Given the description of an element on the screen output the (x, y) to click on. 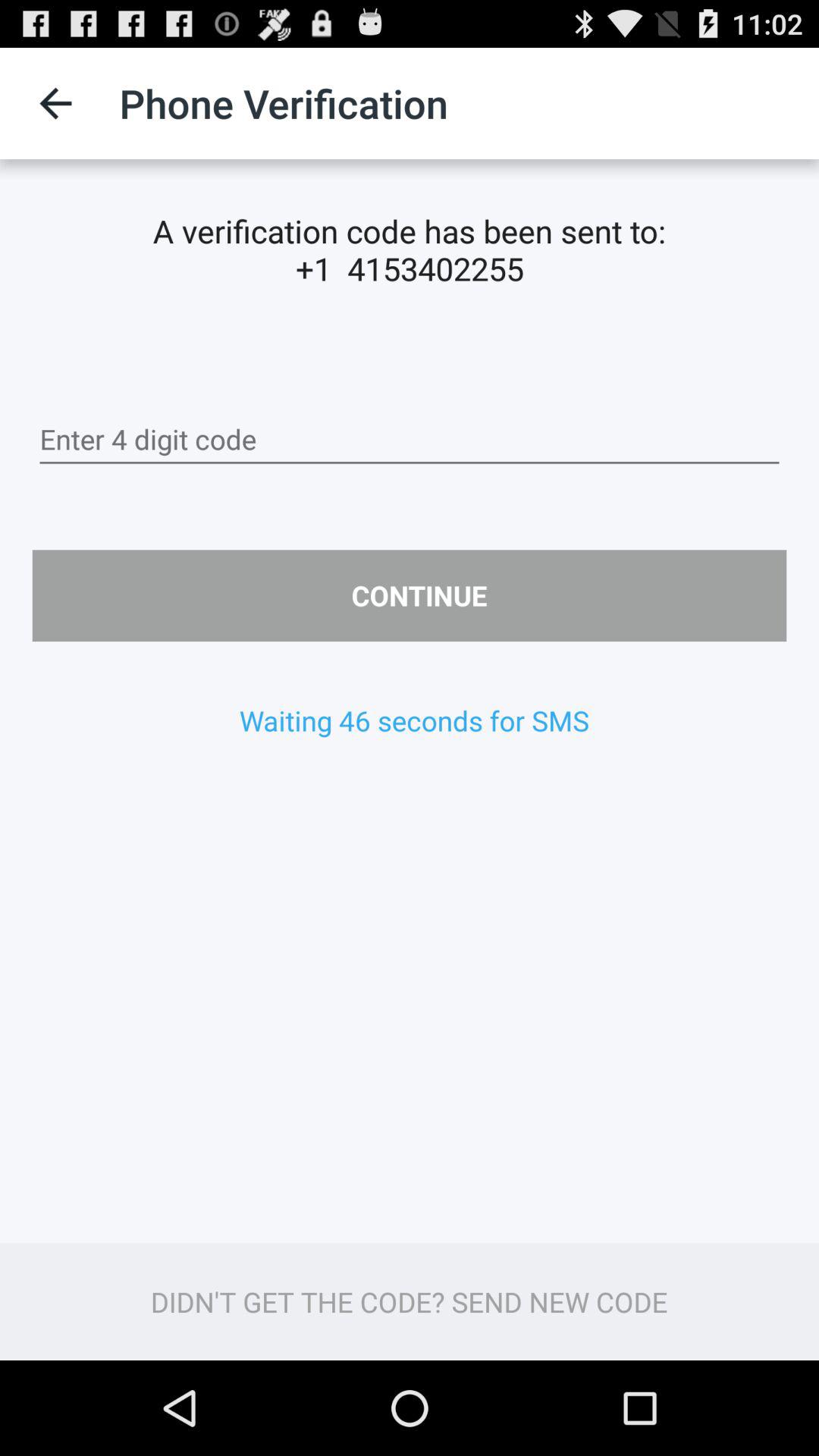
turn on the item next to phone verification (55, 103)
